Given the description of an element on the screen output the (x, y) to click on. 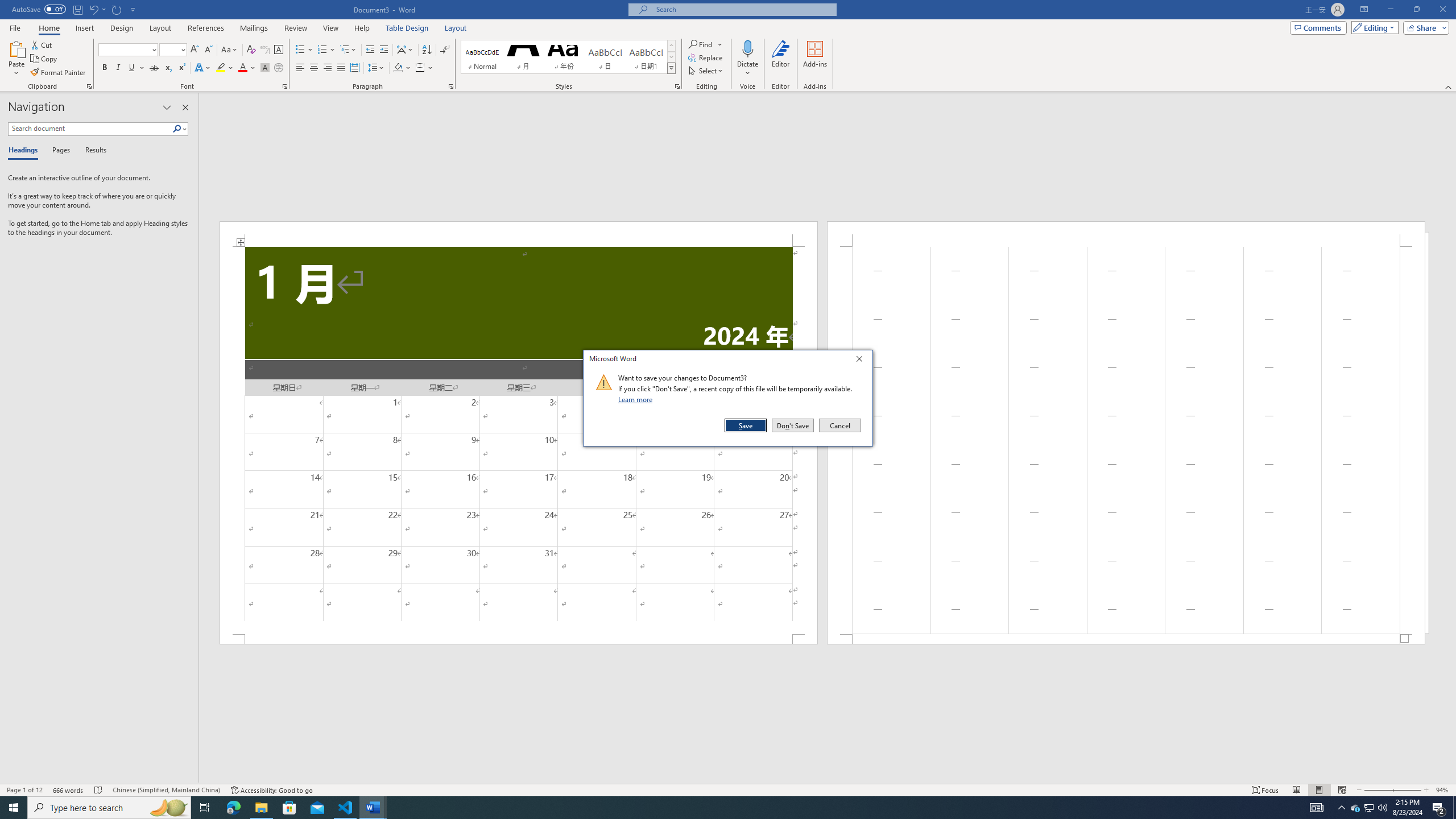
Line and Paragraph Spacing (376, 67)
Multilevel List (347, 49)
